Given the description of an element on the screen output the (x, y) to click on. 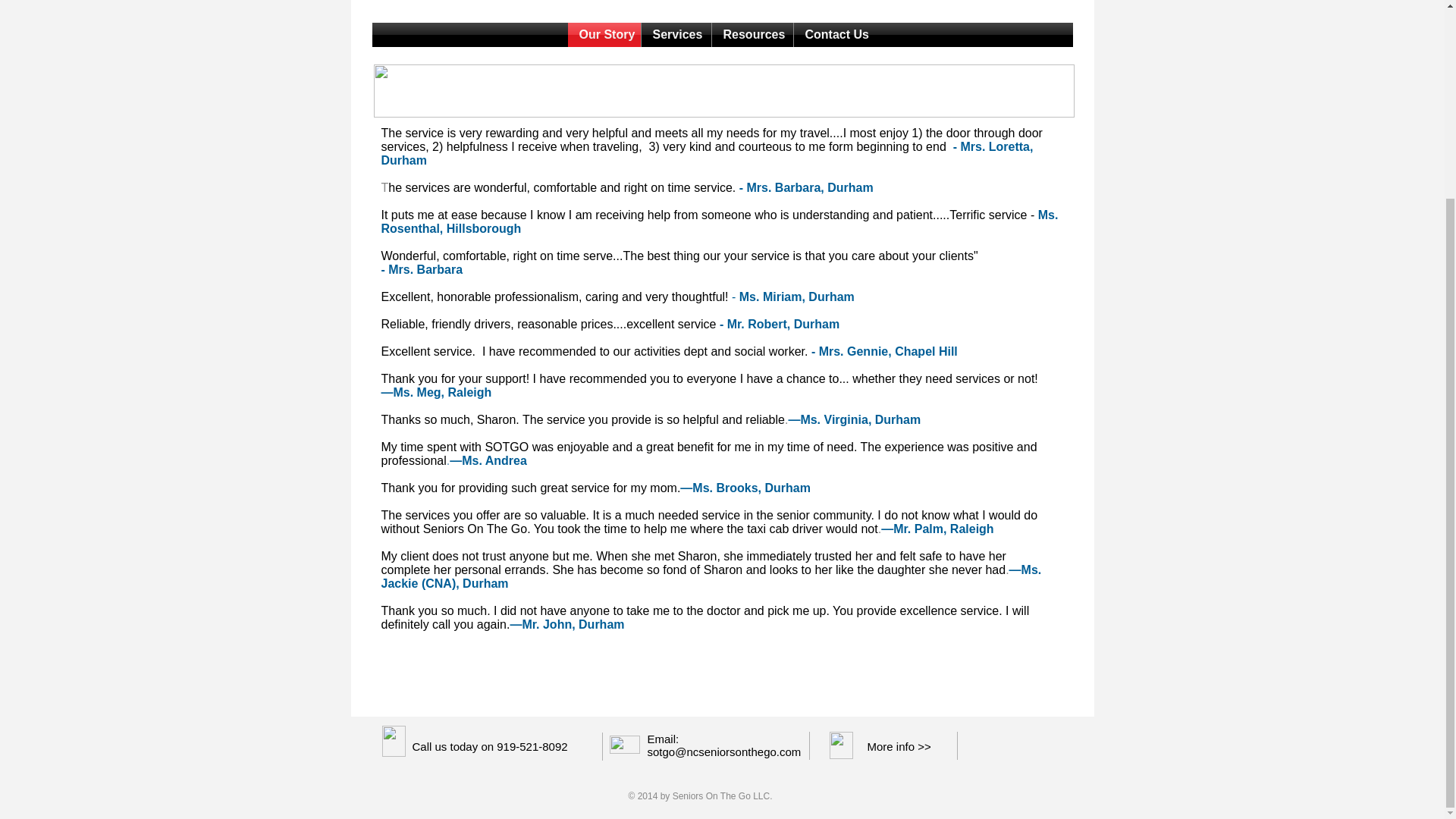
Contact Us (834, 34)
Our Story (603, 34)
Testimonials (718, 19)
Resources (751, 34)
